Given the description of an element on the screen output the (x, y) to click on. 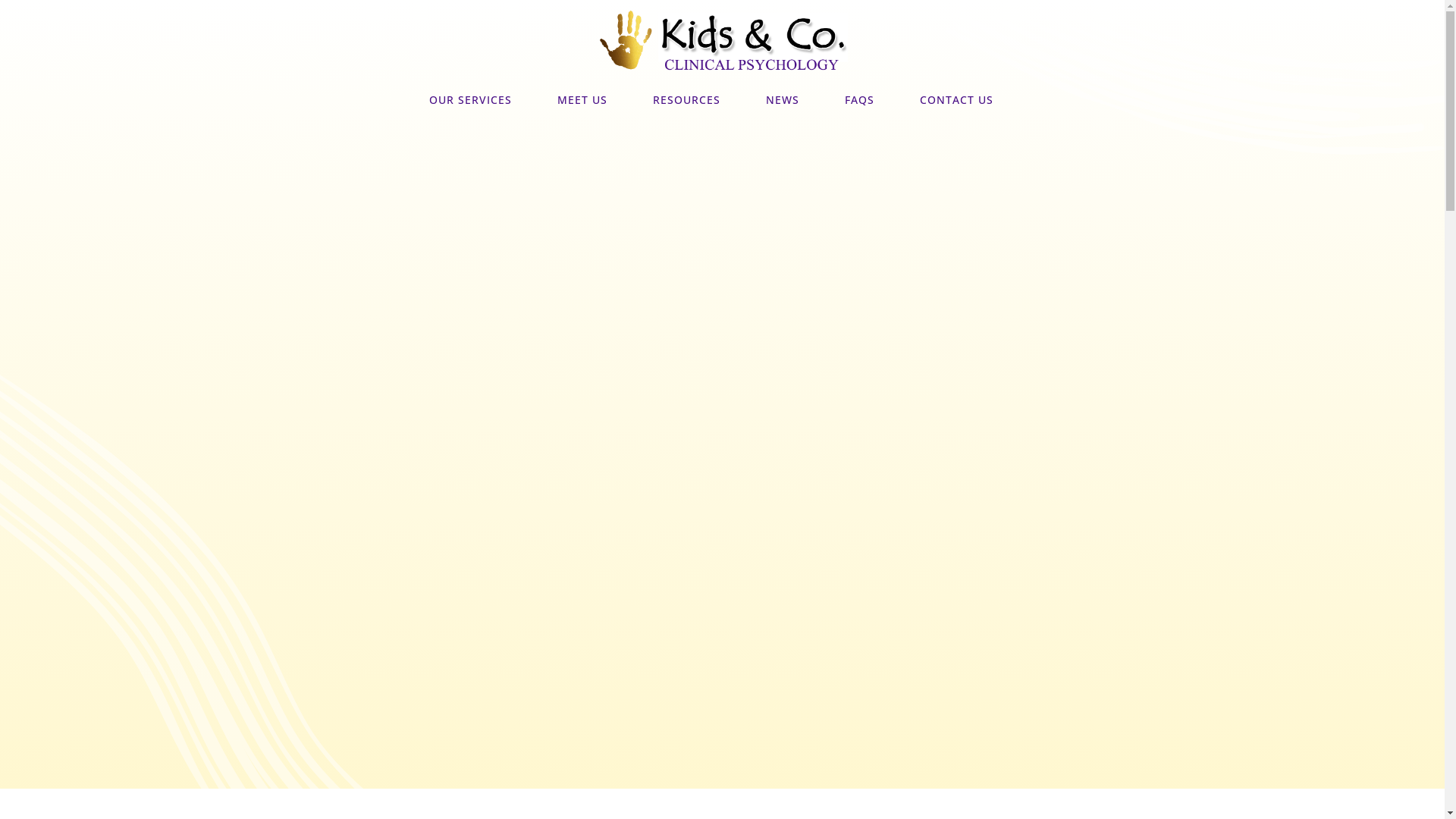
MEET US Element type: text (581, 99)
RESOURCES Element type: text (685, 99)
FAQS Element type: text (859, 99)
NEWS Element type: text (782, 99)
CONTACT US Element type: text (955, 99)
OUR SERVICES Element type: text (470, 99)
